Given the description of an element on the screen output the (x, y) to click on. 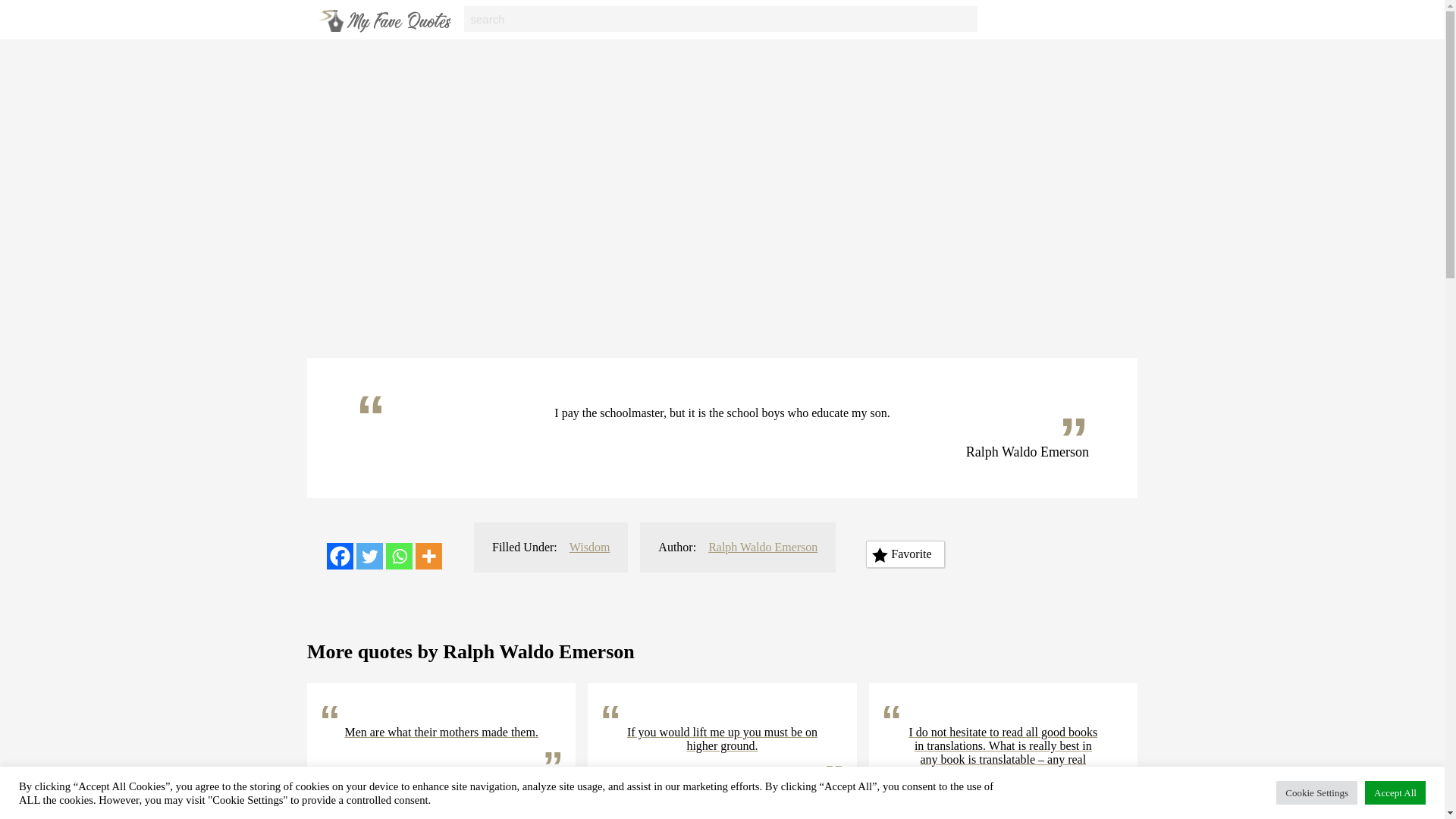
Wisdom (589, 546)
Men are what their mothers made them. (440, 732)
More (428, 555)
Ralph Waldo Emerson (763, 799)
Ralph Waldo Emerson (761, 546)
Twitter (369, 555)
Ralph Waldo Emerson (482, 785)
Facebook (339, 555)
